Given the description of an element on the screen output the (x, y) to click on. 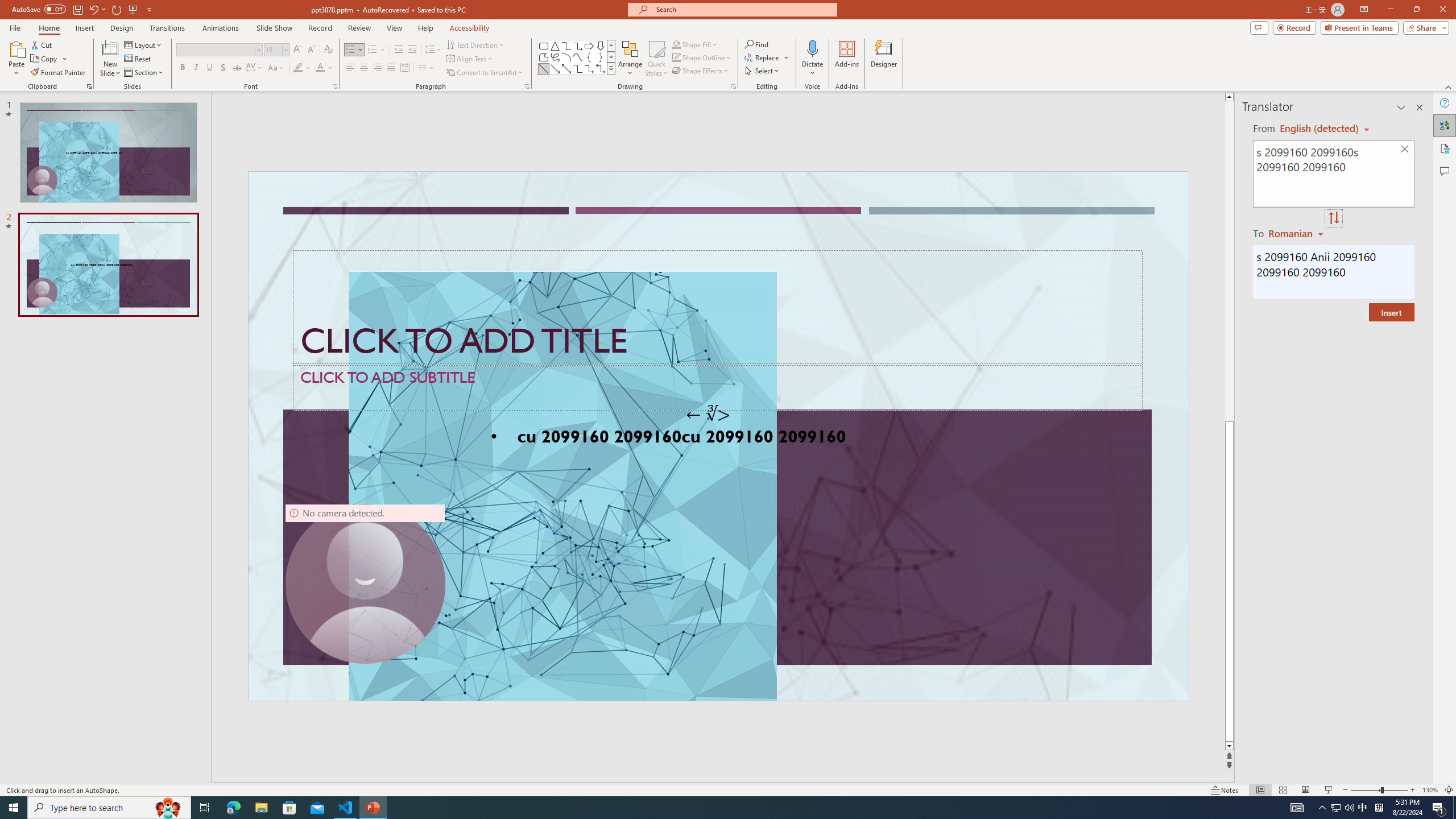
Clear text (1404, 149)
